Given the description of an element on the screen output the (x, y) to click on. 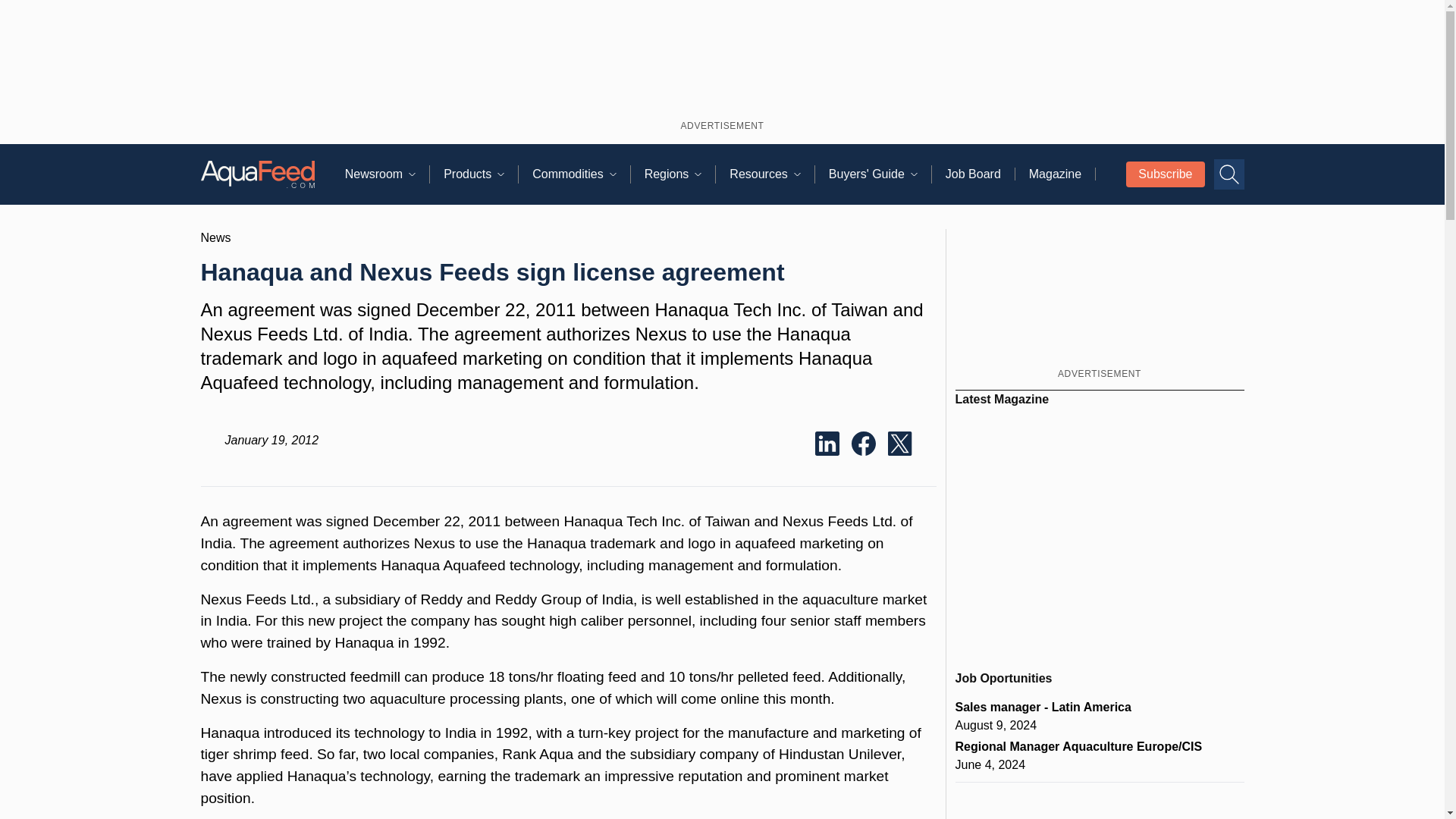
Regions (680, 174)
Commodities (581, 174)
Products (481, 174)
Buyers' Guide (879, 174)
Magazine viewer (1099, 532)
Resources (771, 174)
Newsroom (387, 174)
